Given the description of an element on the screen output the (x, y) to click on. 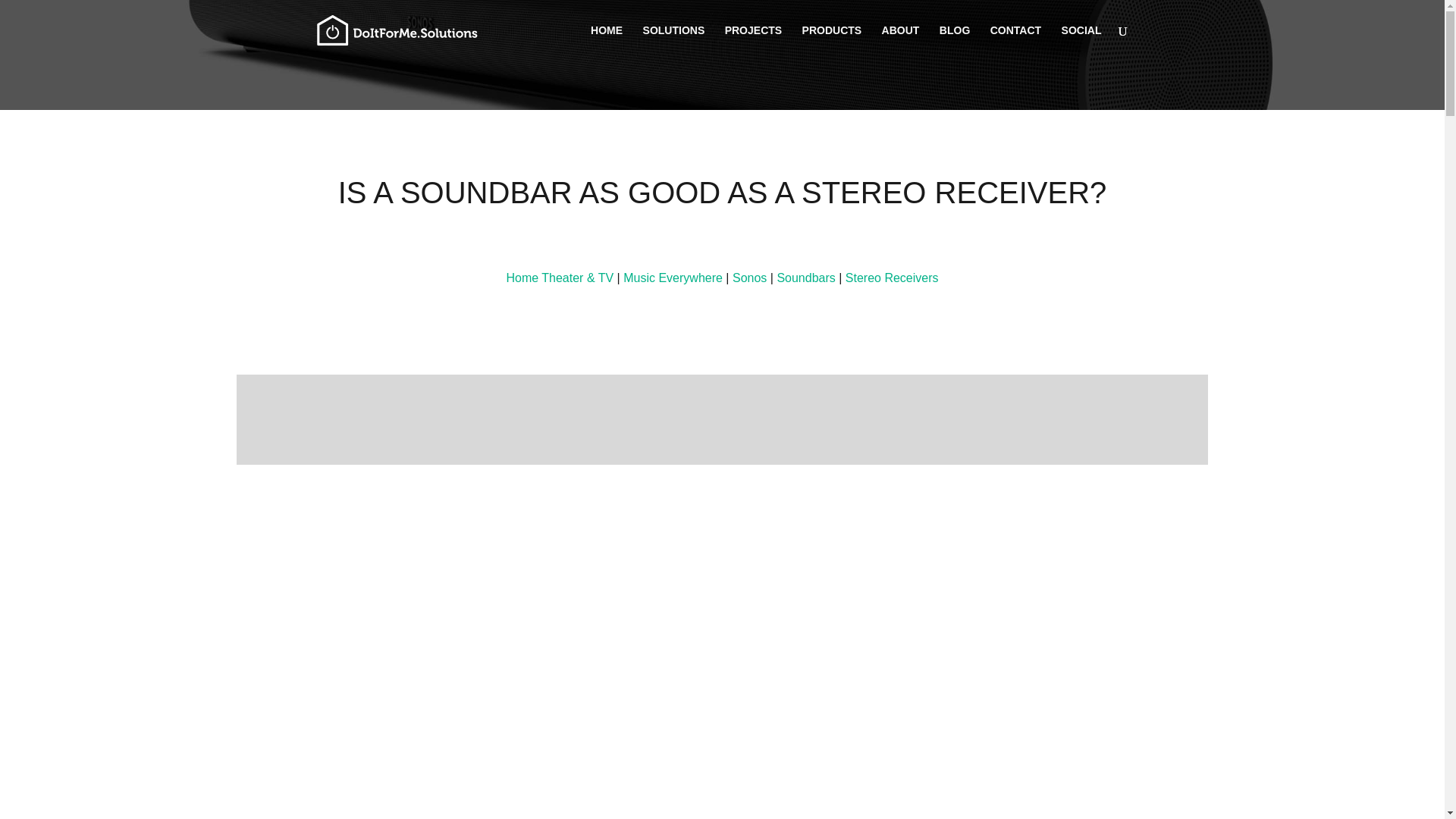
CONTACT (1015, 42)
Sonos (749, 277)
Soundbars (805, 277)
HOME (607, 42)
Music Everywhere (672, 277)
ABOUT (901, 42)
PRODUCTS (831, 42)
SOCIAL (1081, 42)
Stereo Receivers (892, 277)
SOLUTIONS (673, 42)
